Given the description of an element on the screen output the (x, y) to click on. 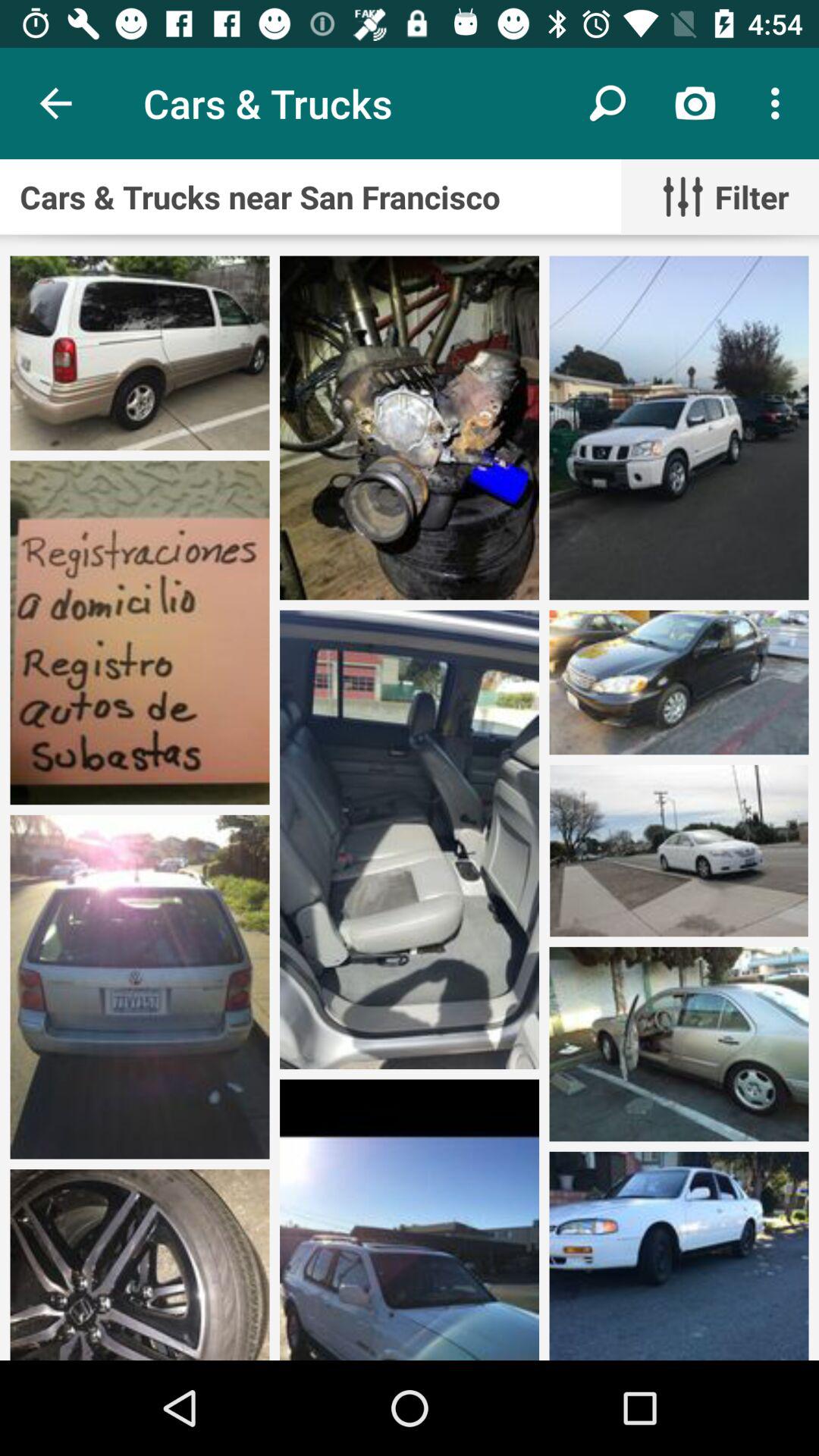
select the item next to cars & trucks (607, 103)
